Given the description of an element on the screen output the (x, y) to click on. 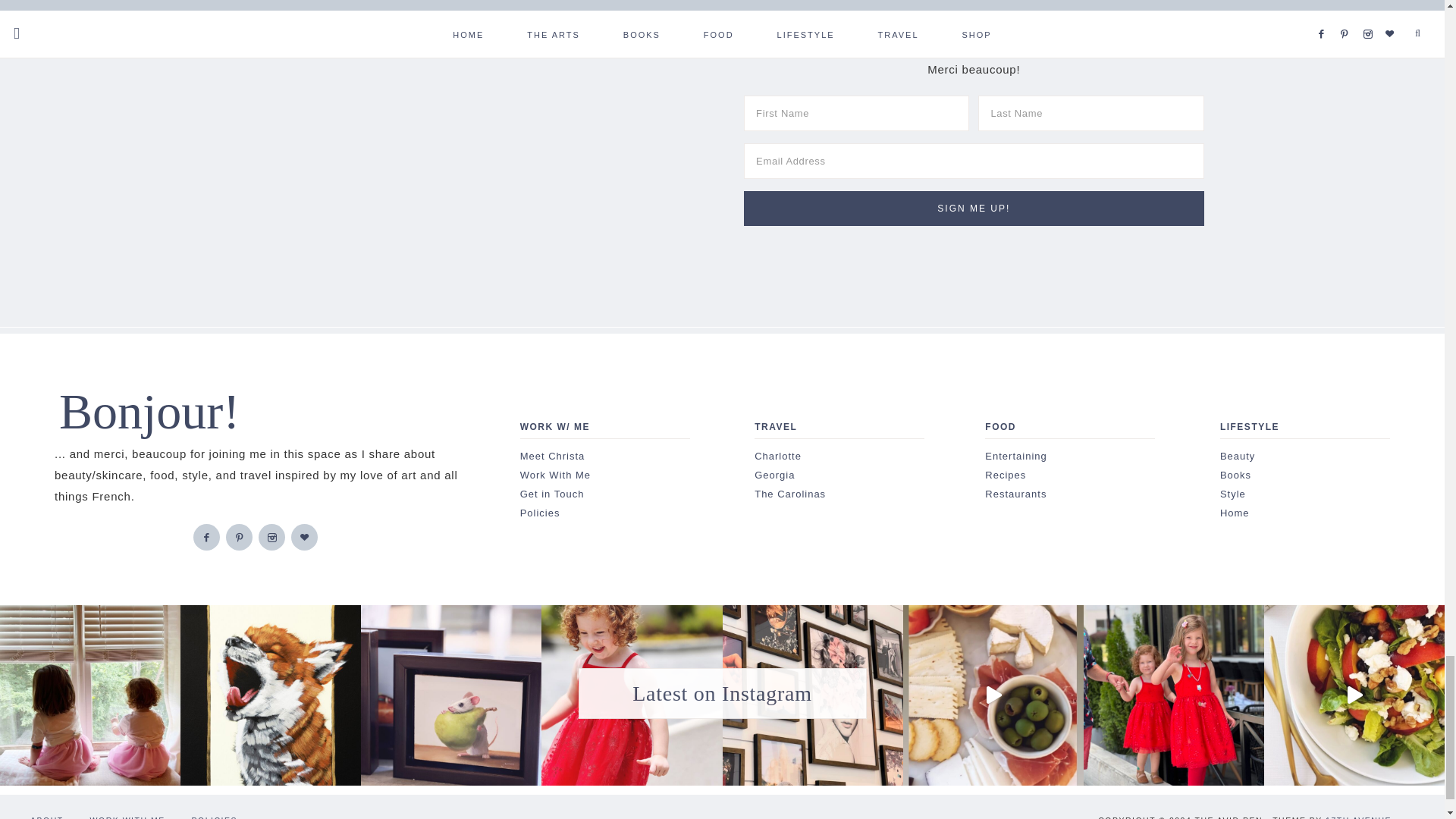
Sign Me Up! (974, 208)
